Given the description of an element on the screen output the (x, y) to click on. 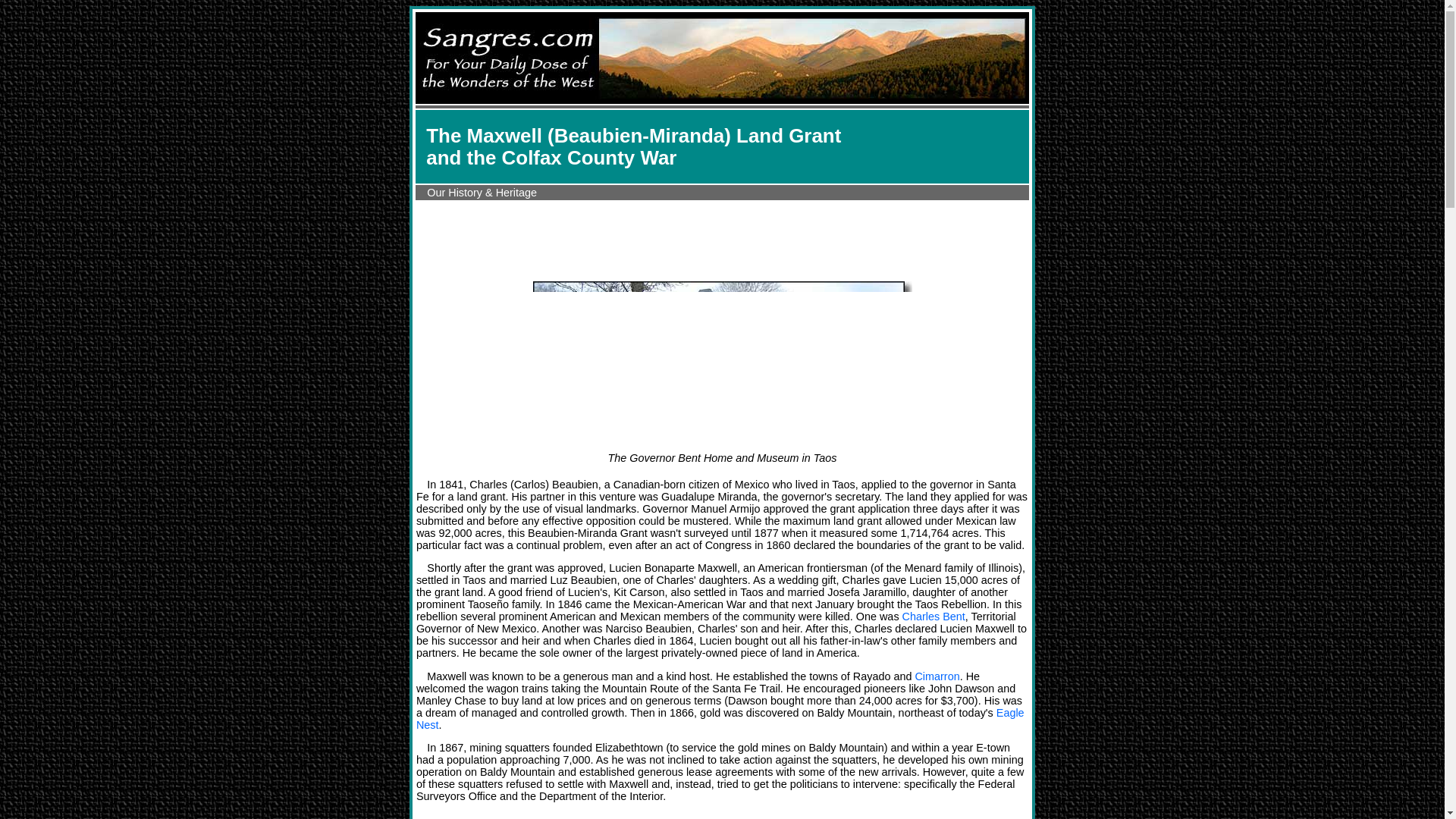
Our History and Heritage (481, 192)
Eagle nest, New Mexico (720, 718)
Charles Bent (933, 616)
Cimarron, New Mexico (936, 676)
Eagle Nest (720, 718)
Bent, St. Vrain and Company (933, 616)
Cimarron (936, 676)
Sangres.com Index page (721, 98)
